Given the description of an element on the screen output the (x, y) to click on. 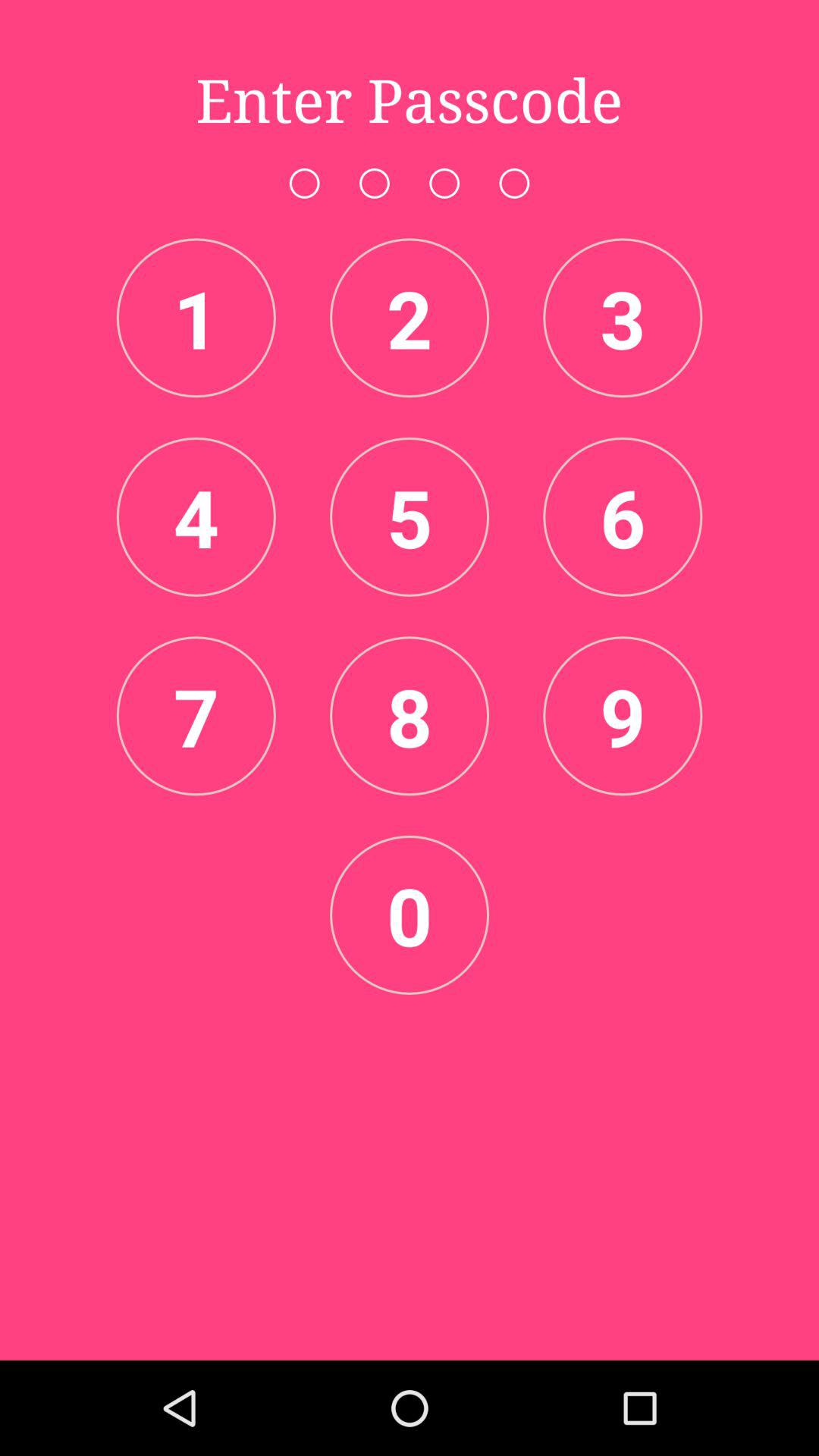
scroll until the 6 icon (622, 516)
